Given the description of an element on the screen output the (x, y) to click on. 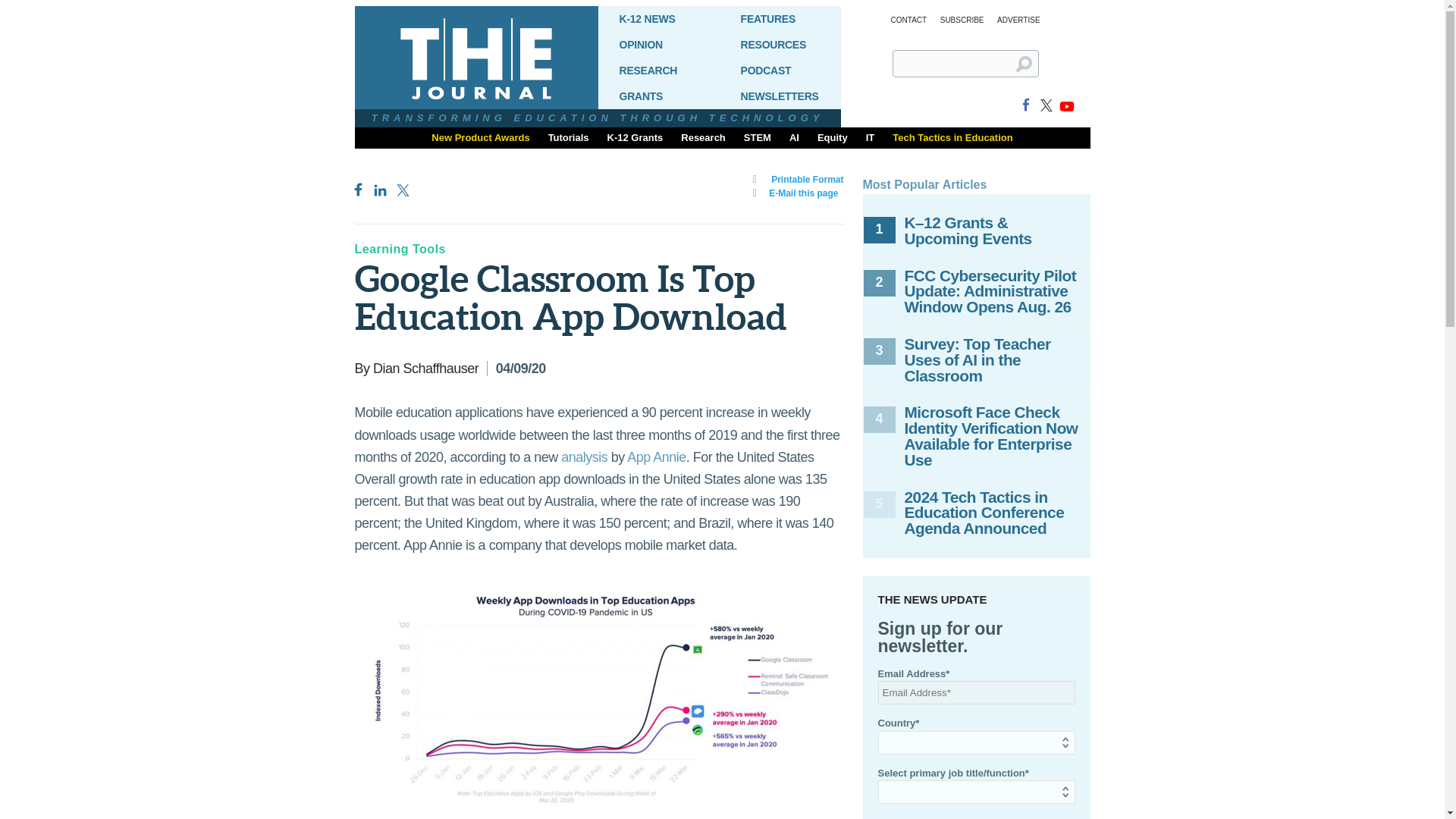
STEM (757, 137)
IT (870, 137)
RESEARCH (658, 70)
K-12 Grants (635, 137)
AI (794, 137)
Search (1029, 69)
K-12 NEWS (658, 18)
Research (703, 137)
PODCAST (780, 70)
ADVERTISE (1018, 19)
